Given the description of an element on the screen output the (x, y) to click on. 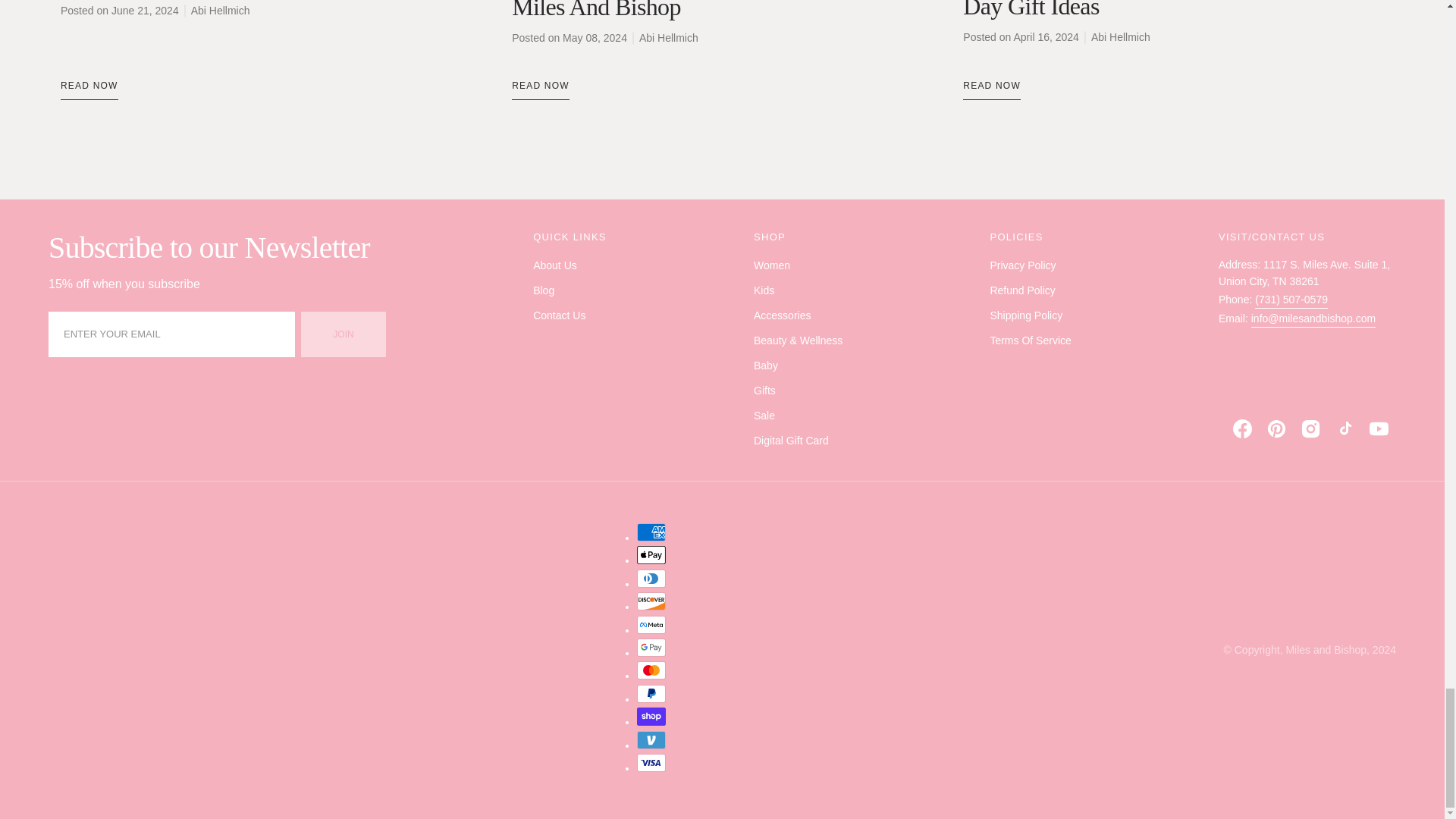
Diners Club (651, 578)
Apple Pay (651, 555)
Visa (651, 762)
Google Pay (651, 647)
Venmo (651, 740)
Mastercard (651, 669)
American Express (651, 532)
Shop Pay (651, 716)
Discover (651, 601)
PayPal (651, 693)
Meta Pay (651, 624)
